Given the description of an element on the screen output the (x, y) to click on. 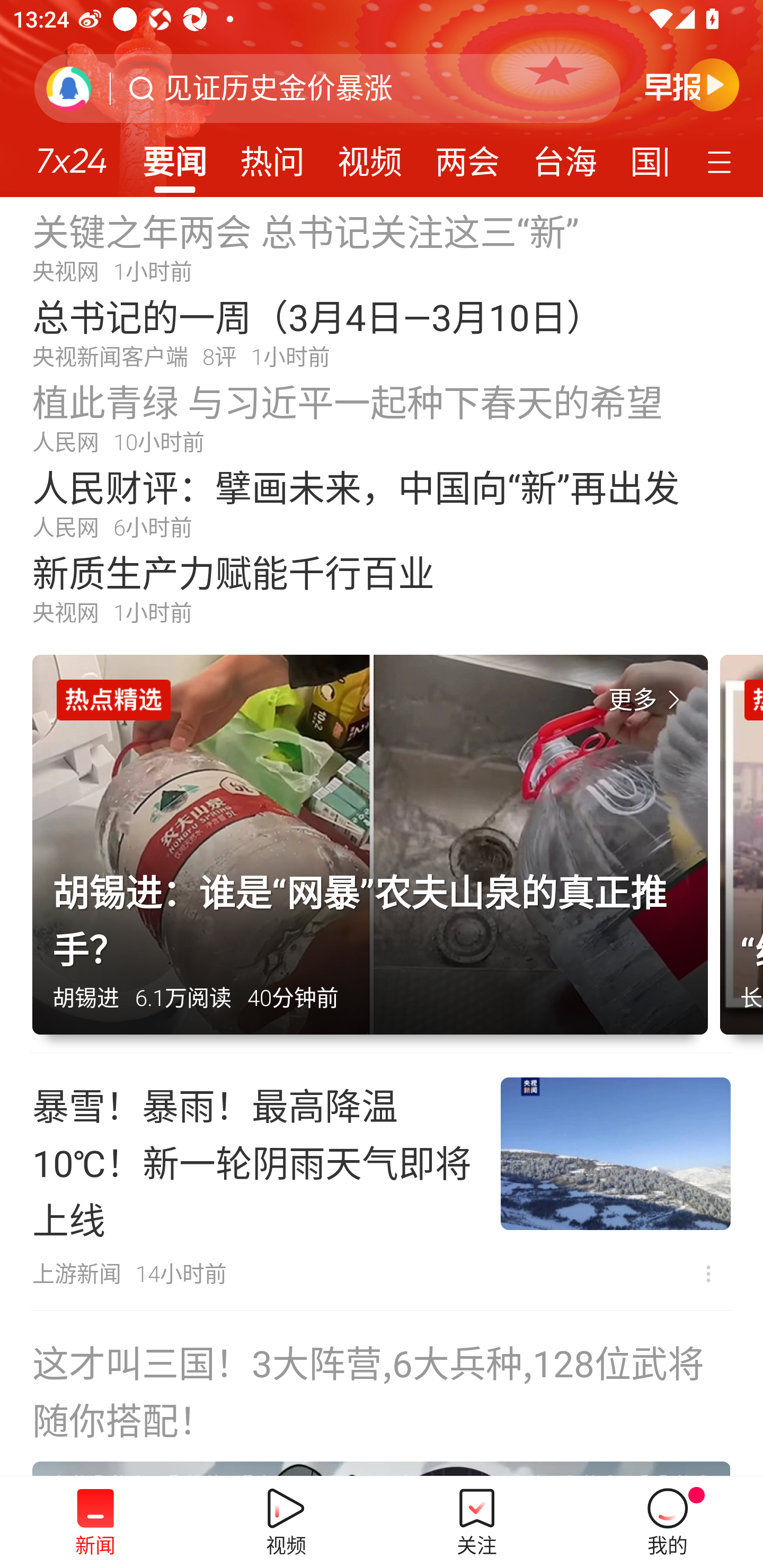
早晚报 (691, 84)
刷新 (68, 88)
见证历史金价暴涨 (278, 88)
7x24 (70, 154)
要闻 (174, 155)
热问 (272, 155)
视频 (369, 155)
两会 (466, 155)
台海 (564, 155)
 定制频道 (721, 160)
关键之年两会 总书记关注这三“新” 央视网 1小时前 (381, 245)
总书记的一周（3月4日—3月10日） 央视新闻客户端 8评 1小时前 (381, 331)
植此青绿 与习近平一起种下春天的希望 人民网 10小时前 (381, 416)
人民财评：擘画未来，中国向“新”再出发 人民网 6小时前 (381, 502)
新质生产力赋能千行百业 央视网 1小时前 (381, 587)
更多  胡锡进：谁是“网暴”农夫山泉的真正推手？ 胡锡进   6.1万阅读   40分钟前 (376, 853)
更多  (648, 699)
暴雪！暴雨！最高降温10℃！新一轮阴雨天气即将上线 上游新闻 14小时前  不感兴趣 (381, 1181)
 不感兴趣 (707, 1273)
这才叫三国！3大阵营,6大兵种,128位武将随你搭配！ (381, 1393)
